Given the description of an element on the screen output the (x, y) to click on. 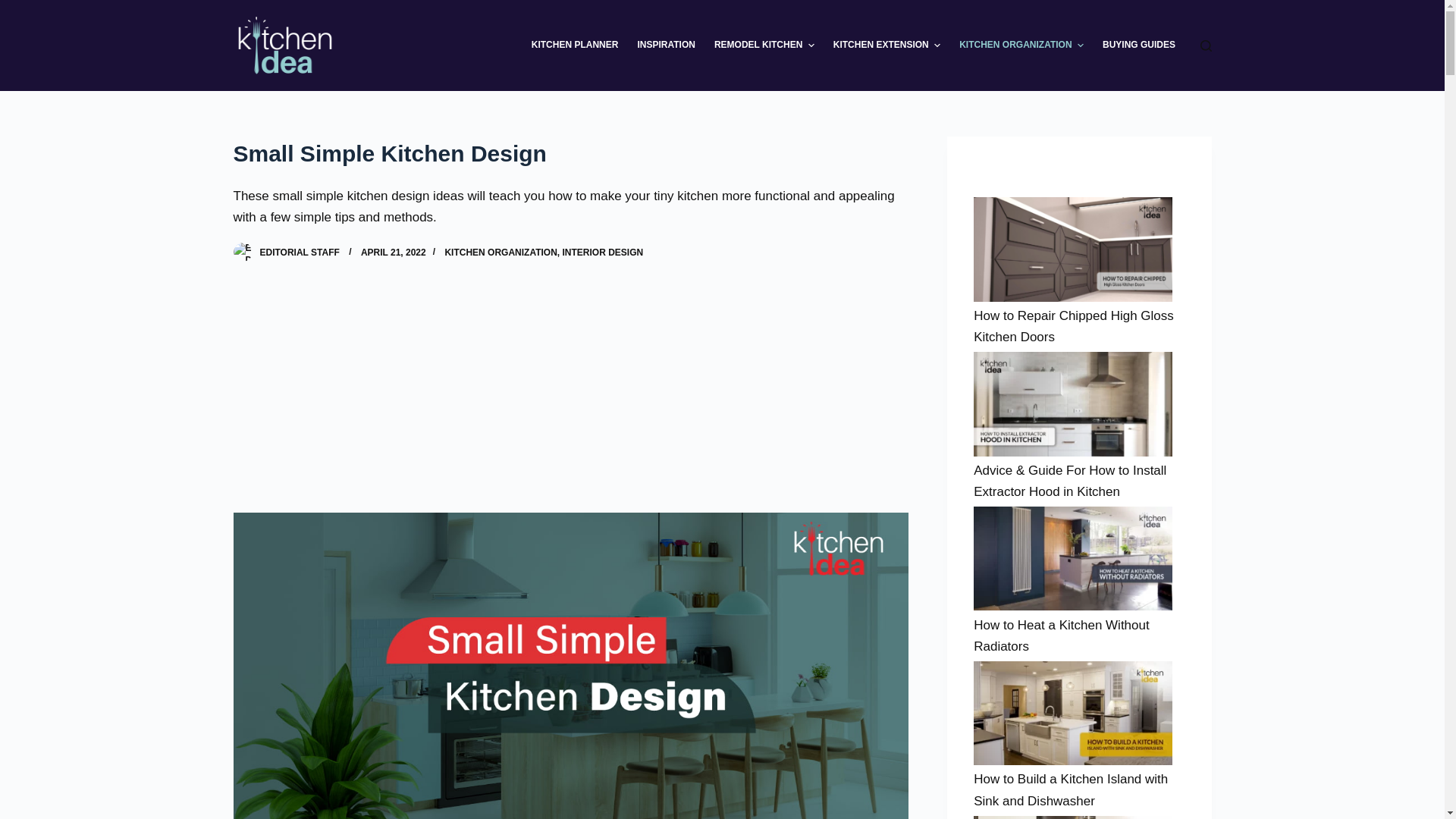
KITCHEN ORGANIZATION (500, 252)
BUYING GUIDES (1139, 45)
REMODEL KITCHEN (764, 45)
Posts by Editorial Staff (299, 252)
Skip to content (15, 7)
KITCHEN ORGANIZATION (1021, 45)
KITCHEN EXTENSION (886, 45)
KITCHEN PLANNER (574, 45)
INTERIOR DESIGN (602, 252)
EDITORIAL STAFF (299, 252)
Small Simple Kitchen Design (570, 153)
